Given the description of an element on the screen output the (x, y) to click on. 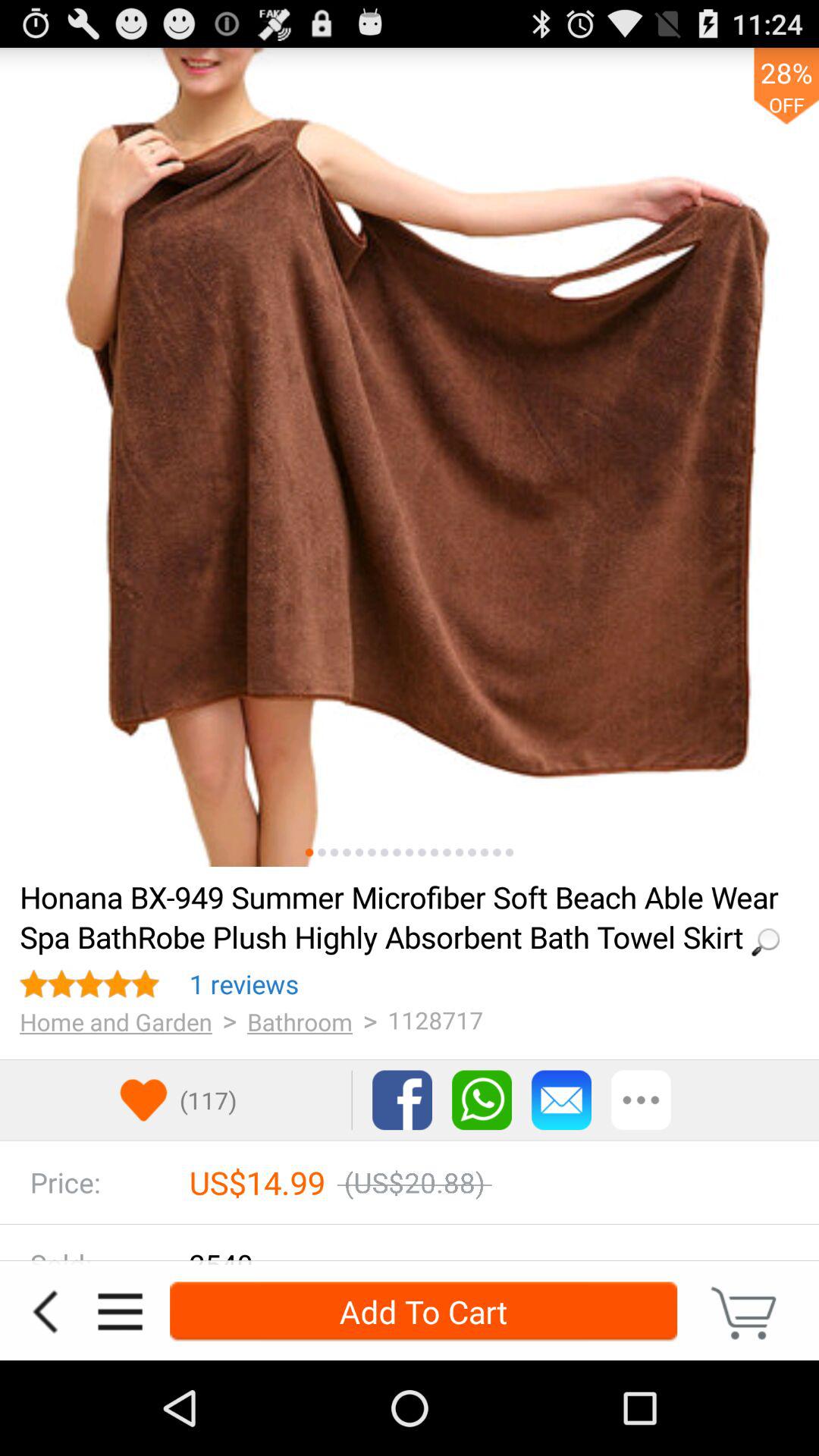
view additional photos (459, 852)
